Given the description of an element on the screen output the (x, y) to click on. 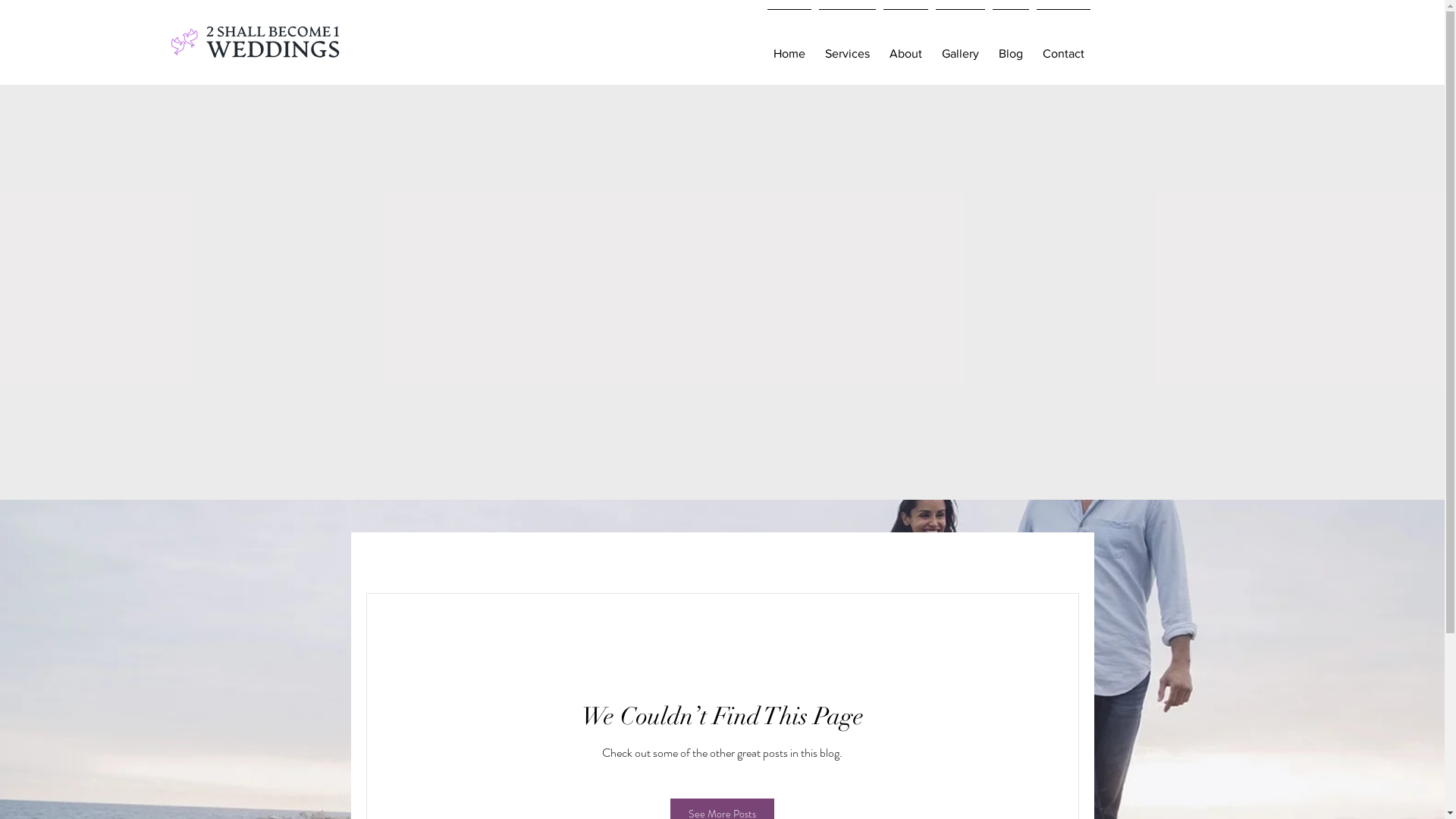
Home Element type: text (788, 46)
Contact Element type: text (1063, 46)
About Element type: text (905, 46)
Blog Element type: text (1010, 46)
Services Element type: text (846, 46)
Gallery Element type: text (959, 46)
